Given the description of an element on the screen output the (x, y) to click on. 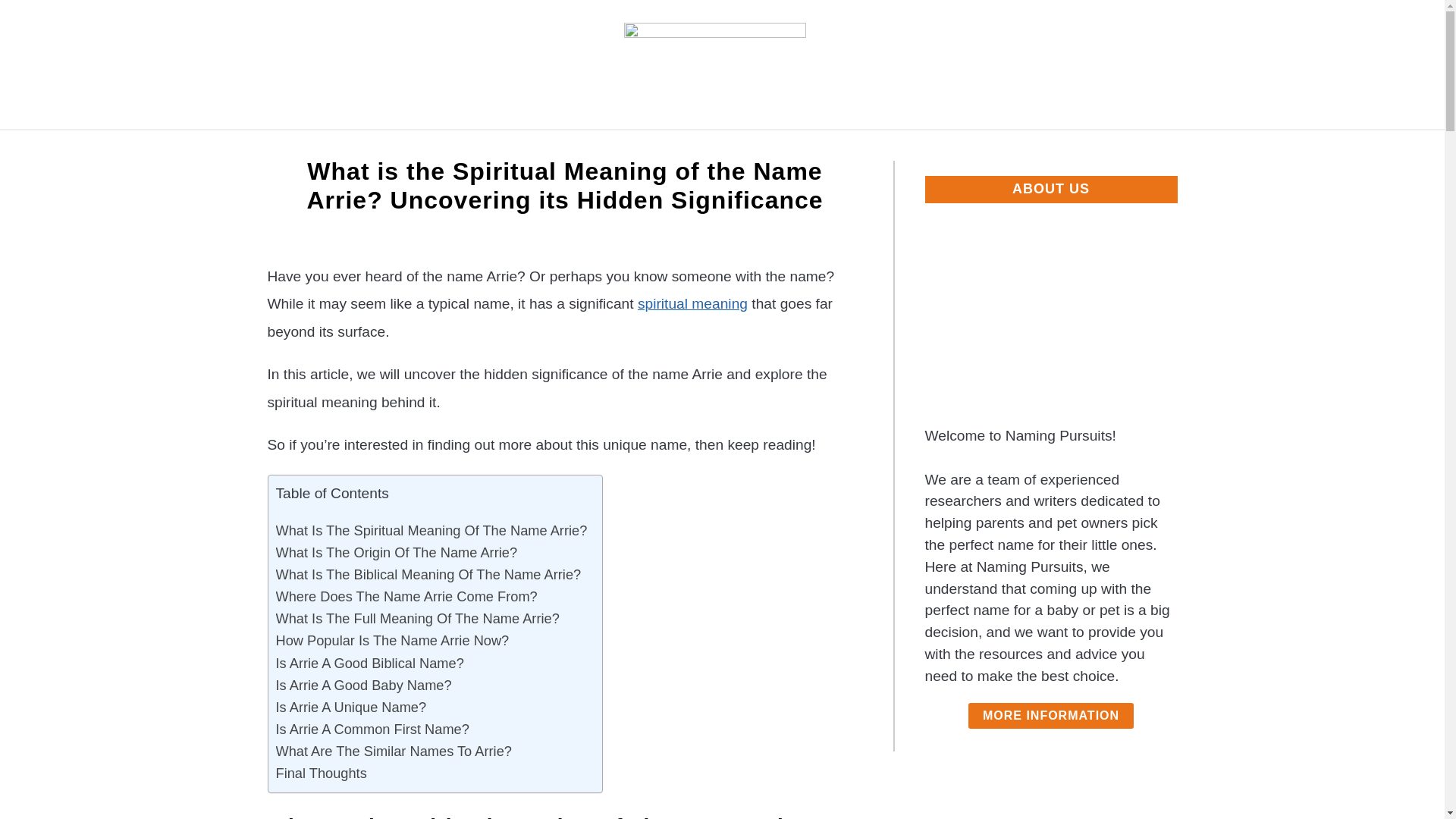
What Is The Spiritual Meaning Of The Name Arrie? (432, 530)
What Is The Origin Of The Name Arrie? (397, 552)
Search (1203, 63)
PRIVACY POLICY (718, 147)
What Are The Similar Names To Arrie? (394, 751)
Final Thoughts (321, 772)
Is Arrie A Unique Name? (351, 707)
What Is The Origin Of The Name Arrie? (397, 552)
What Is The Biblical Meaning Of The Name Arrie? (428, 574)
Where Does The Name Arrie Come From? (406, 596)
